Given the description of an element on the screen output the (x, y) to click on. 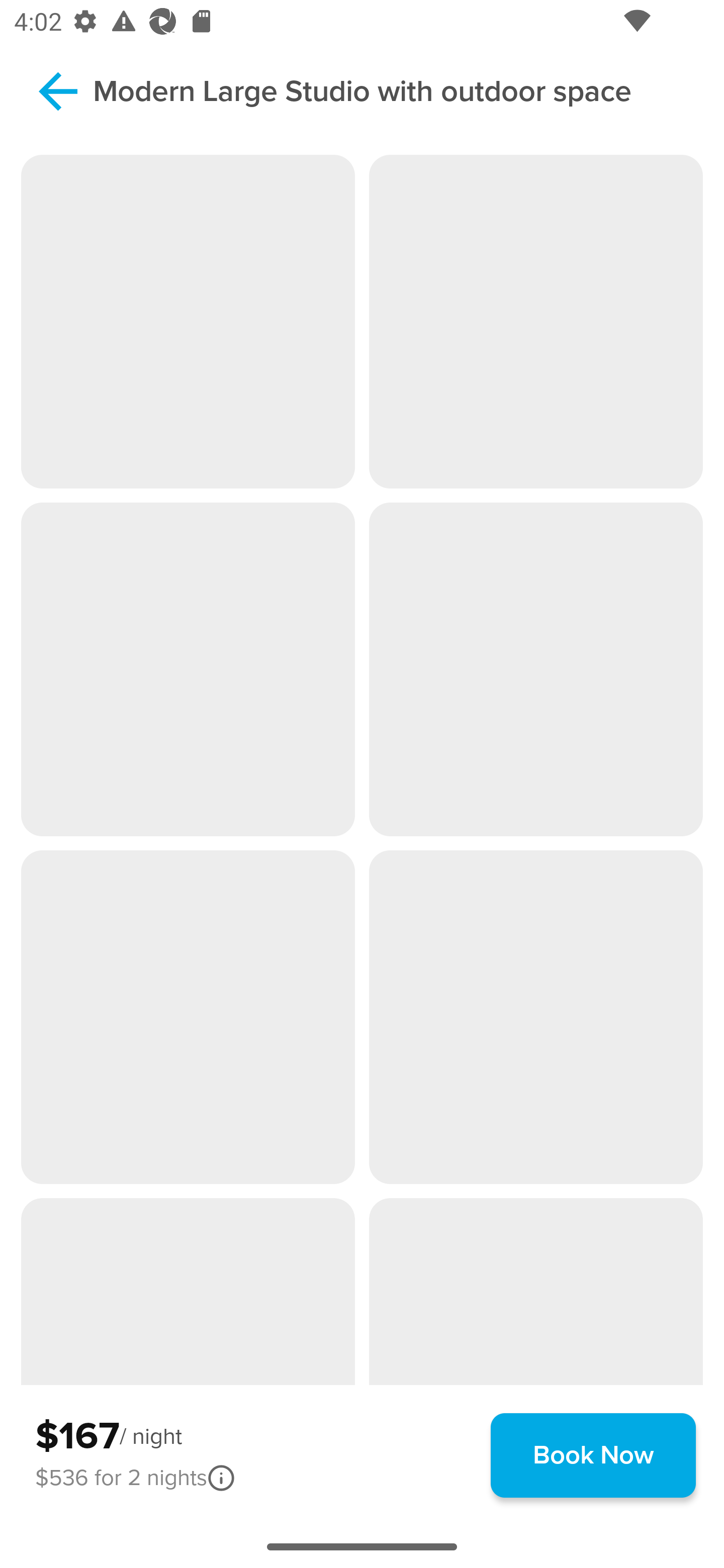
Book Now (592, 1454)
